Given the description of an element on the screen output the (x, y) to click on. 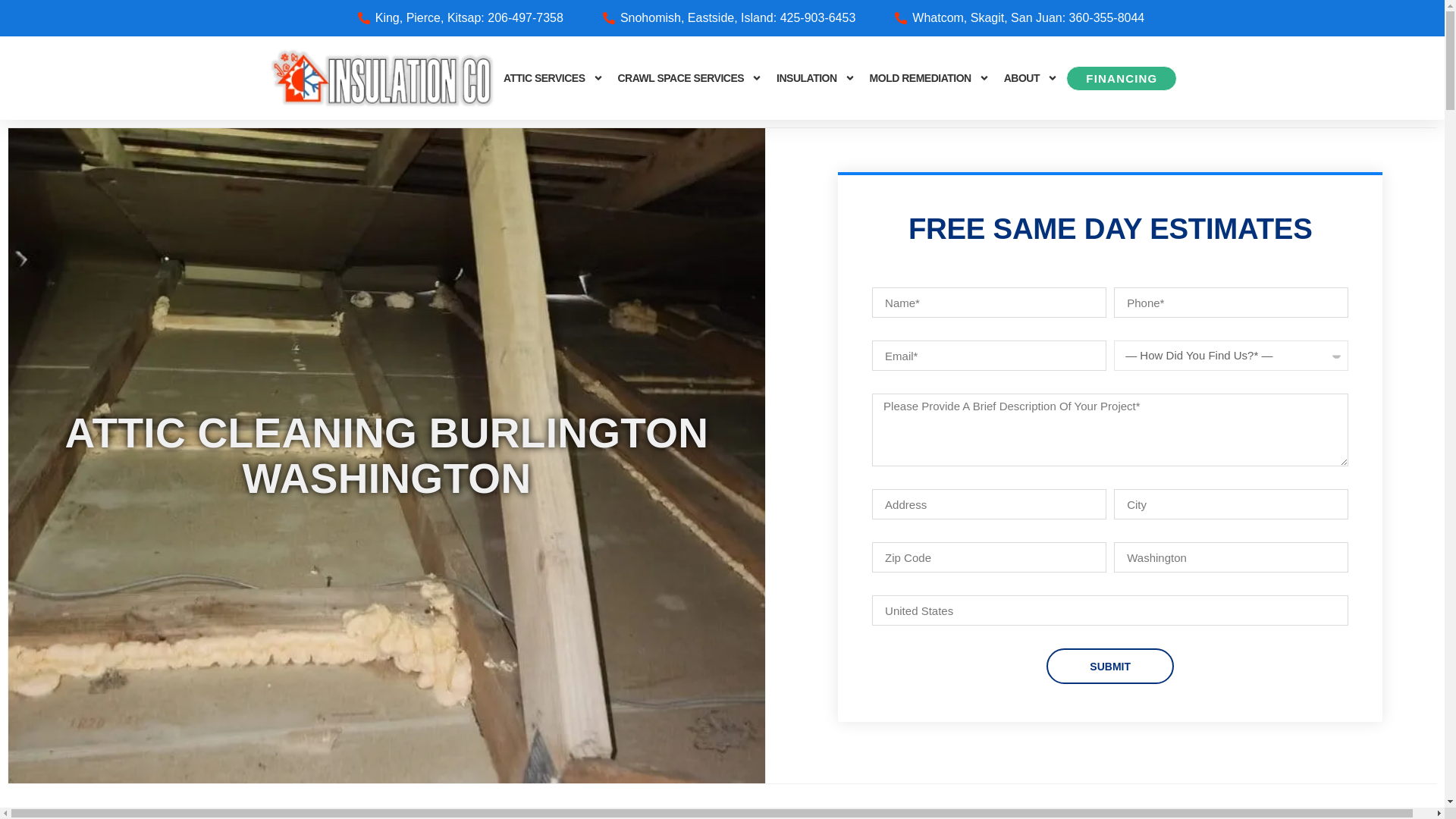
INSULATION (816, 77)
ATTIC SERVICES (553, 77)
CRAWL SPACE SERVICES (689, 77)
CRAWL SPACE SERVICES (689, 77)
INSULATION (816, 77)
ATTIC SERVICES (553, 77)
